Given the description of an element on the screen output the (x, y) to click on. 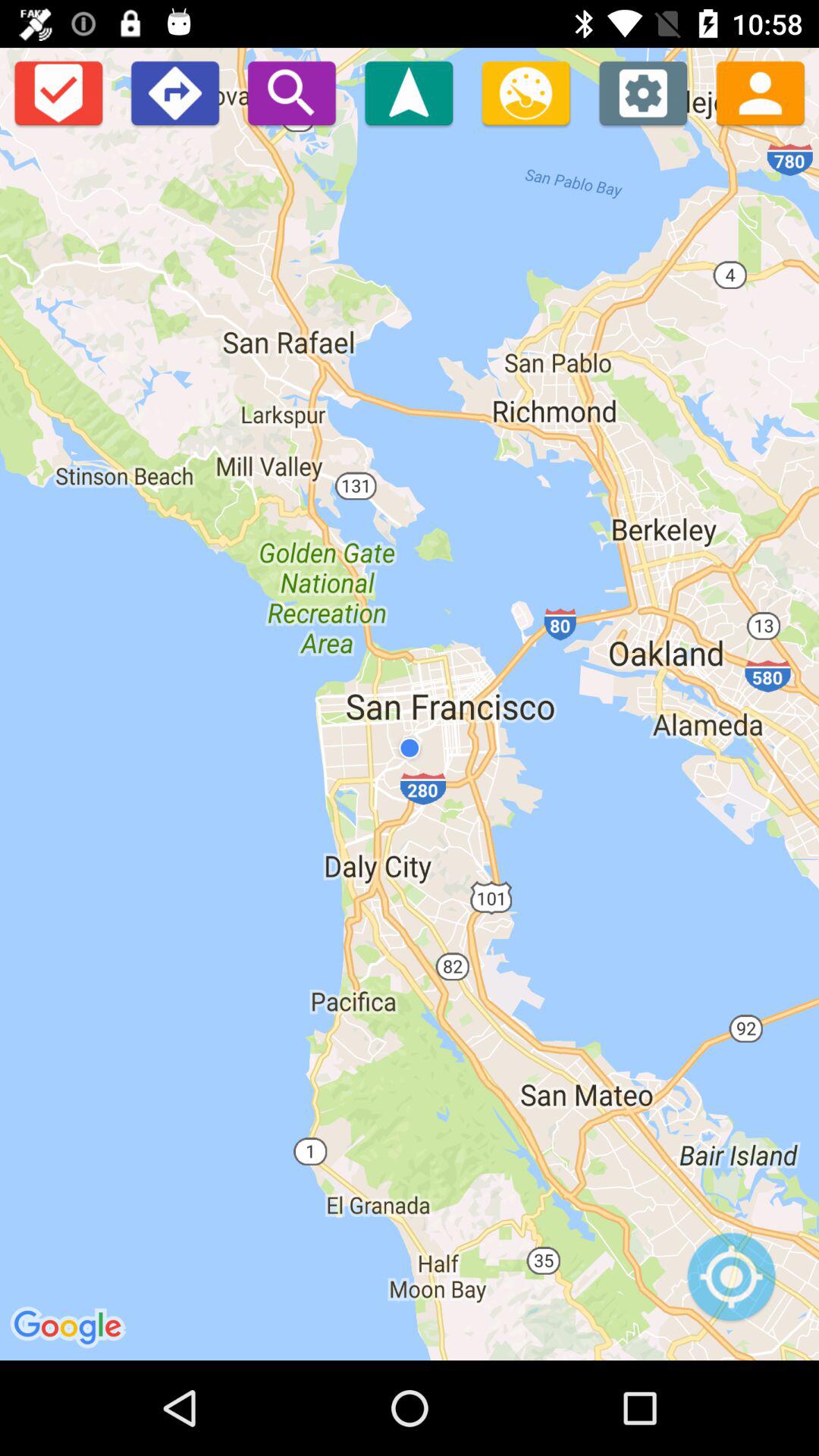
search location (291, 92)
